Given the description of an element on the screen output the (x, y) to click on. 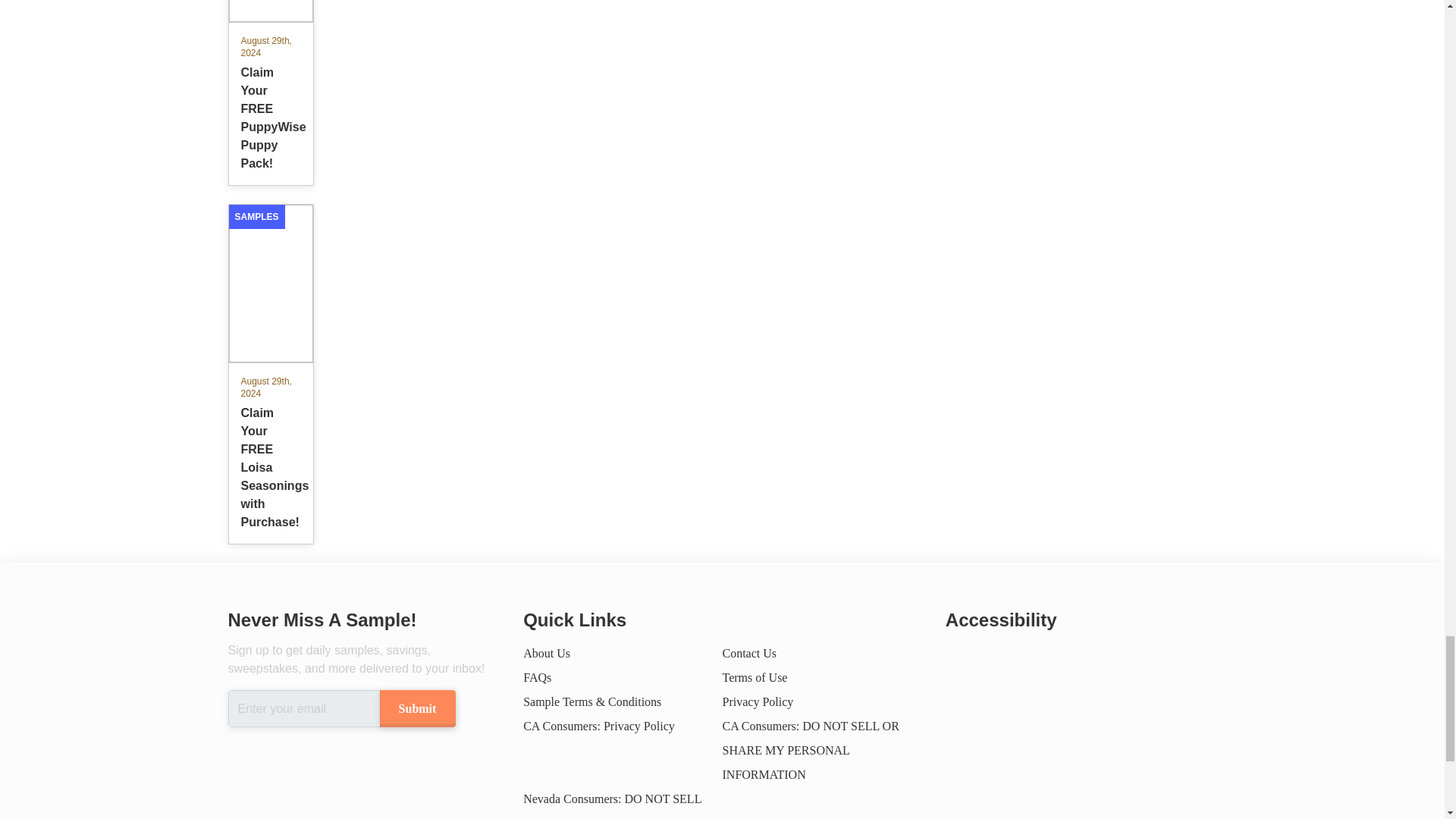
Privacy Policy (757, 701)
CA Consumers: Privacy Policy (598, 725)
Contact Us (749, 653)
Nevada Consumers: DO NOT SELL MY PERSONAL INFORMATION (611, 805)
CA Consumers: DO NOT SELL OR SHARE MY PERSONAL INFORMATION (810, 750)
Submit (416, 708)
About Us (546, 653)
Terms of Use (754, 676)
FAQs (536, 676)
